Given the description of an element on the screen output the (x, y) to click on. 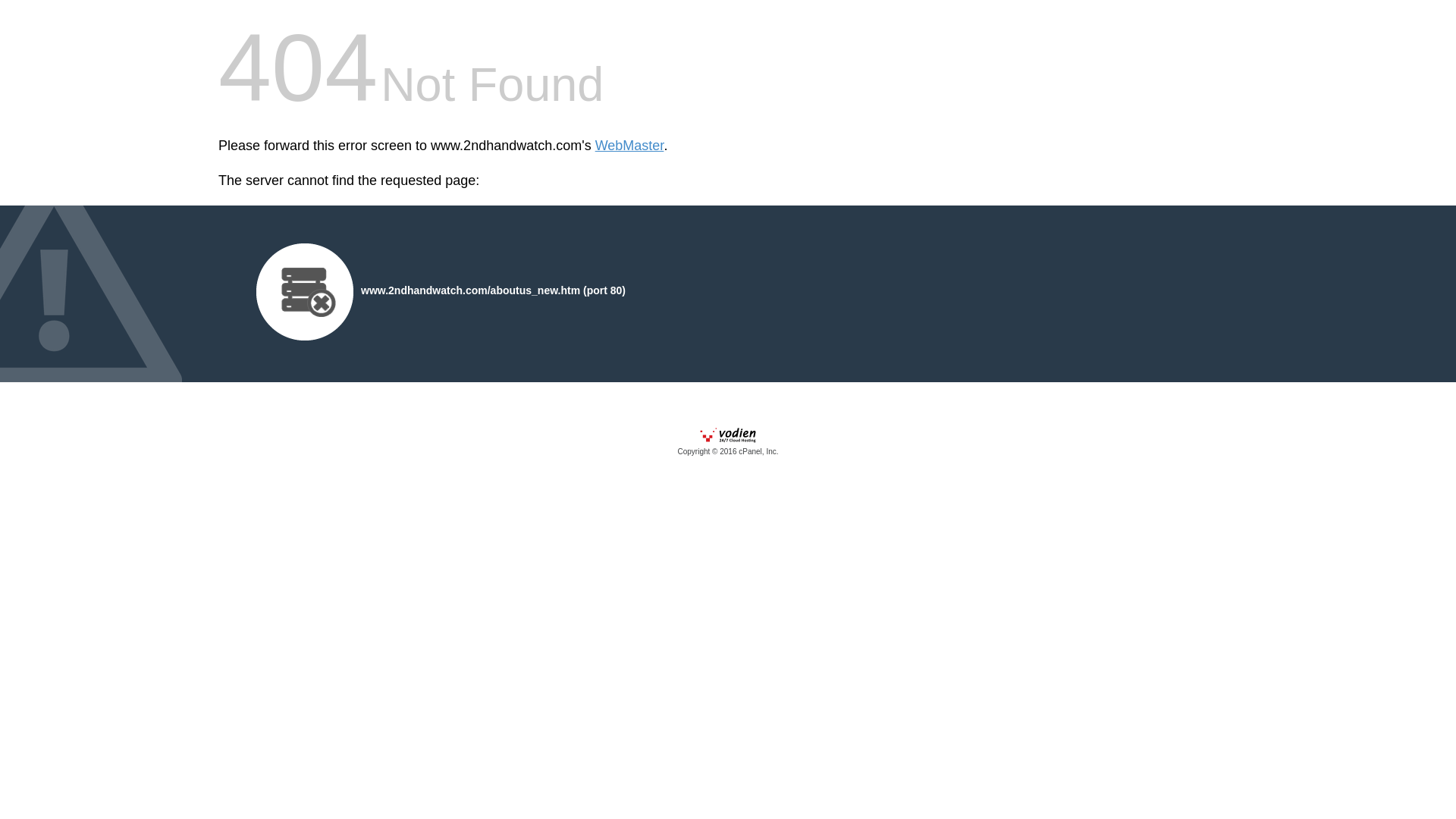
WebMaster Element type: text (629, 145)
